Given the description of an element on the screen output the (x, y) to click on. 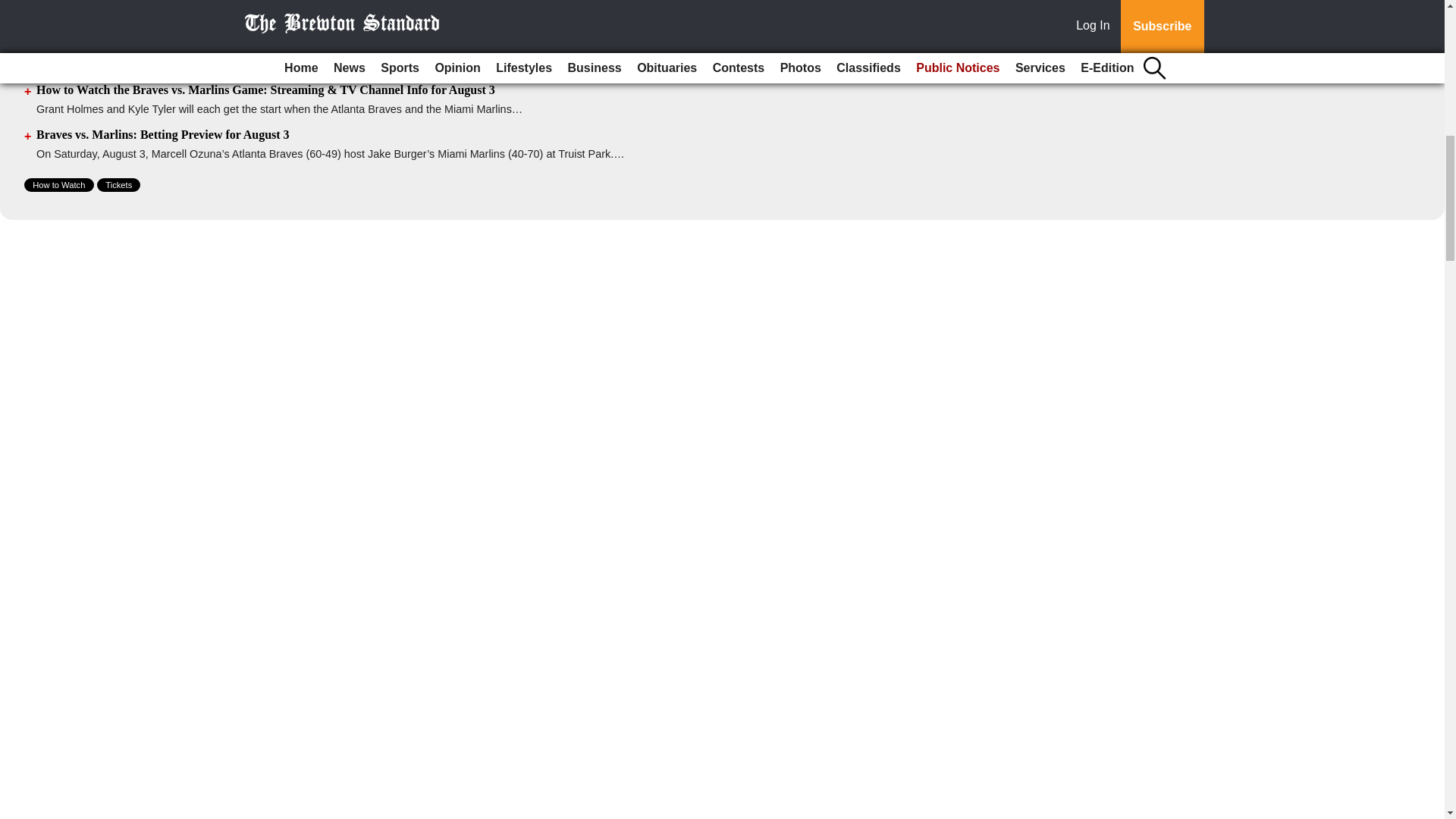
Braves vs. Marlins: Betting Preview for August 3 (162, 133)
How to Watch (59, 184)
Tickets (118, 184)
Braves vs. Marlins: Betting Preview for August 4 (162, 2)
